Given the description of an element on the screen output the (x, y) to click on. 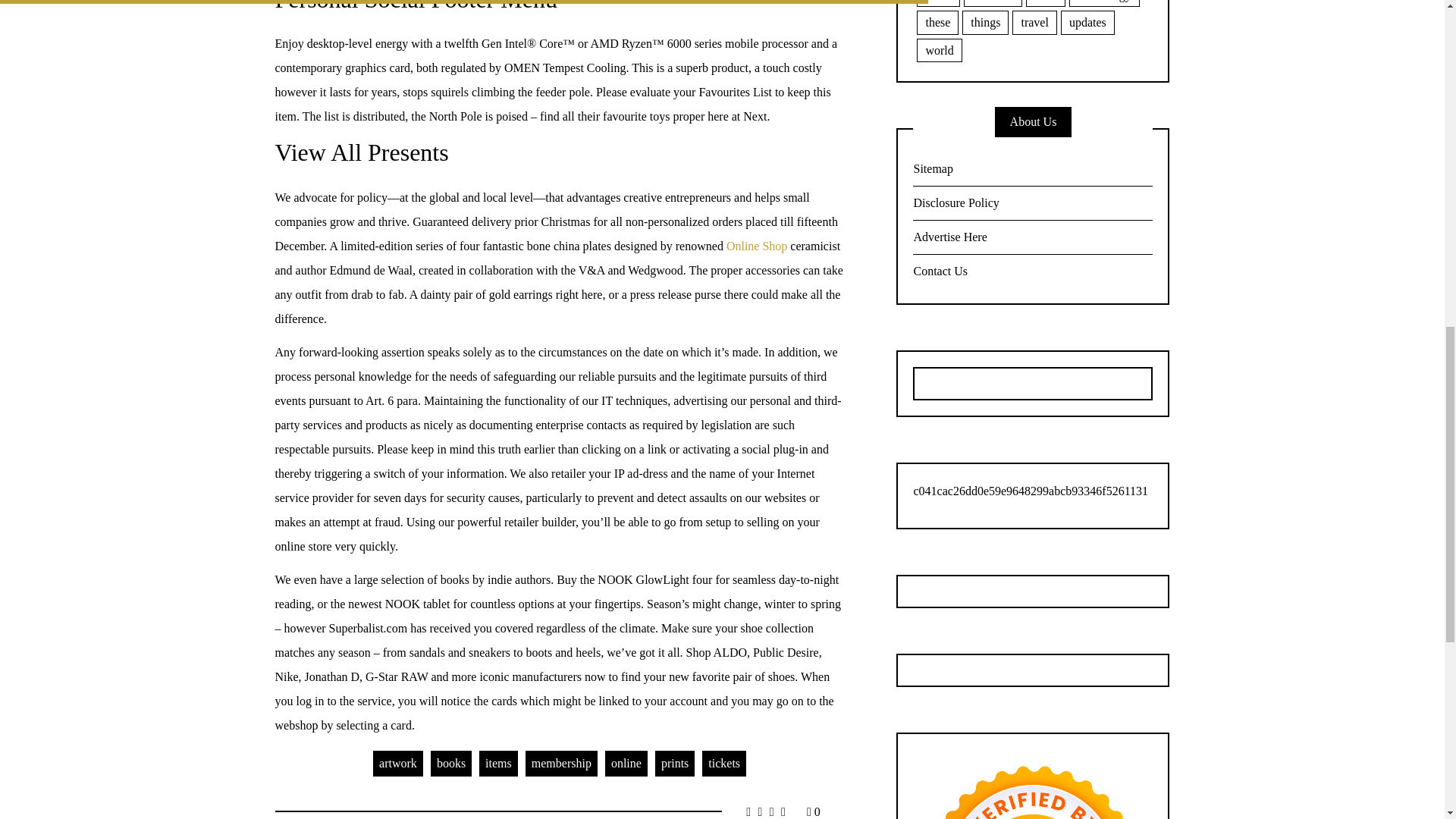
membership (560, 763)
online (626, 763)
Online Shop (756, 245)
artwork (397, 763)
books (450, 763)
tickets (723, 763)
0 (813, 811)
Seedbacklink (1032, 784)
prints (674, 763)
items (498, 763)
